Given the description of an element on the screen output the (x, y) to click on. 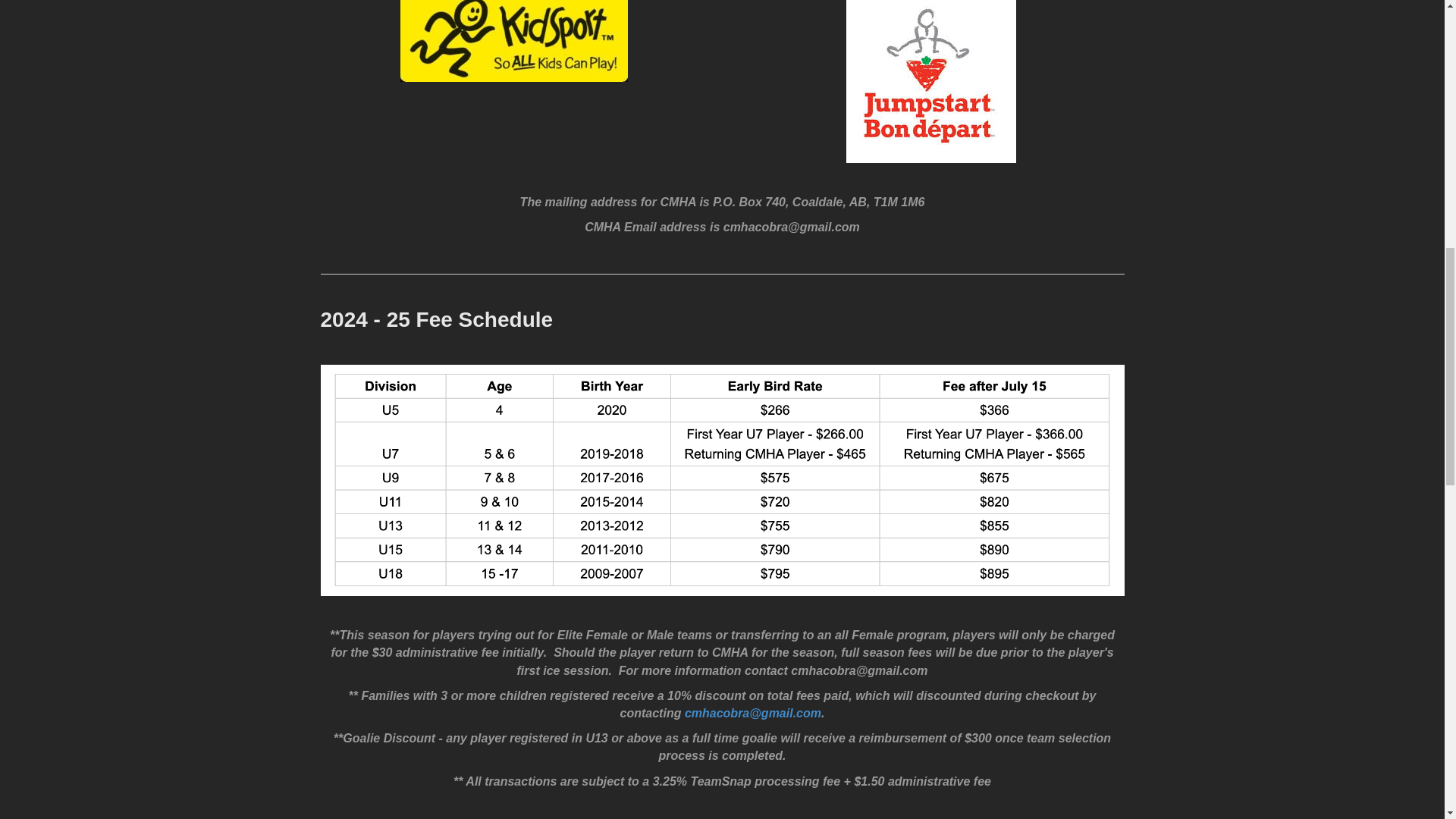
kidsport-1-300x117 (513, 40)
jumpstart (930, 81)
